Given the description of an element on the screen output the (x, y) to click on. 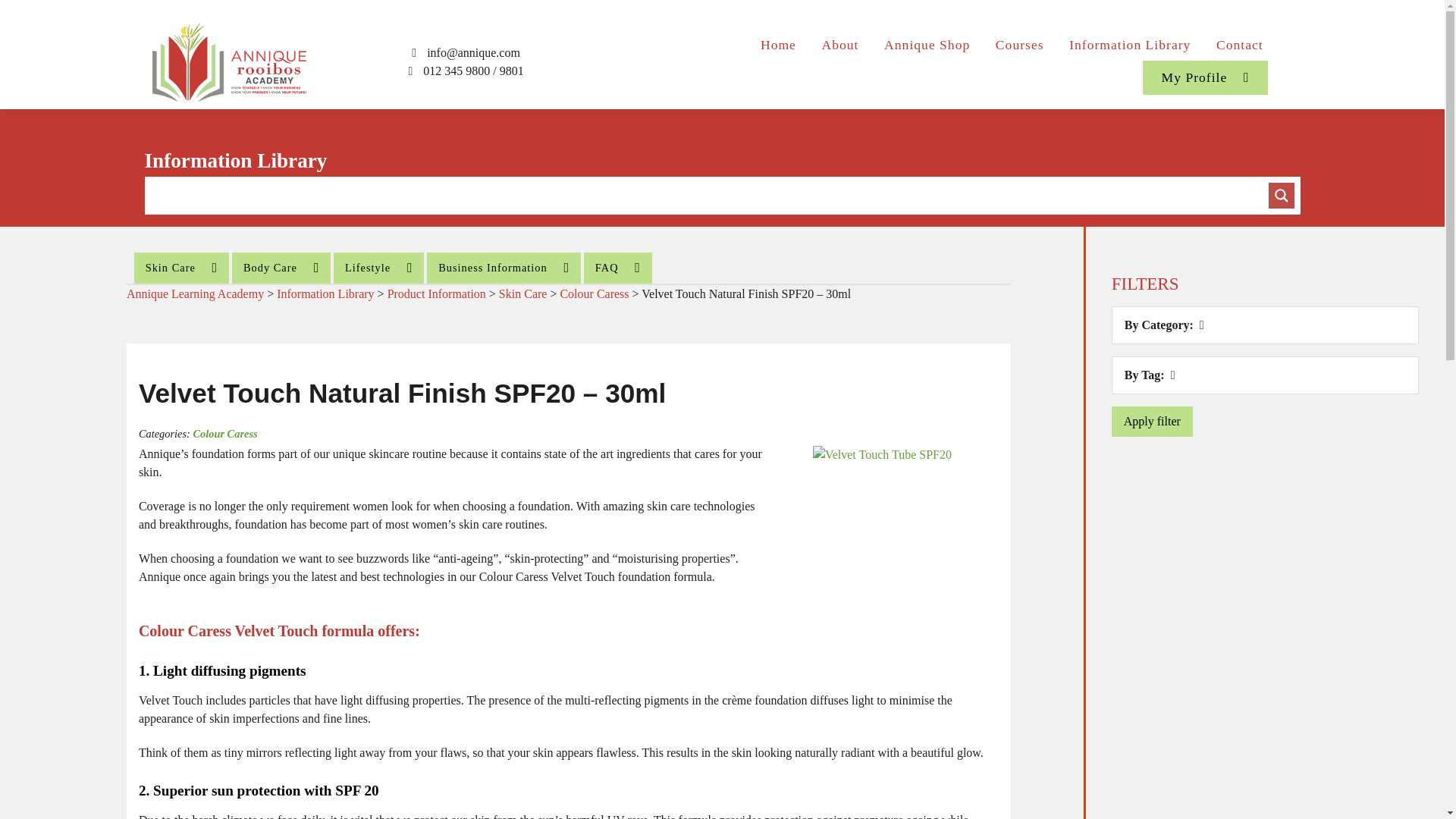
Skin Care (180, 267)
Go to the Product Information category archives. (436, 293)
Go to the Skin Care category archives. (523, 293)
Information Library (1130, 44)
Colour Caress (224, 433)
Go to Annique Learning Academy. (194, 293)
Home (778, 44)
About (840, 44)
Courses (1019, 44)
Go to the Colour Caress category archives. (593, 293)
Annique Academy (230, 59)
Velvet Touch Tube SPF20 (882, 454)
Contact (1239, 44)
Go to the Information Library category archives. (325, 293)
Body Care (280, 267)
